Given the description of an element on the screen output the (x, y) to click on. 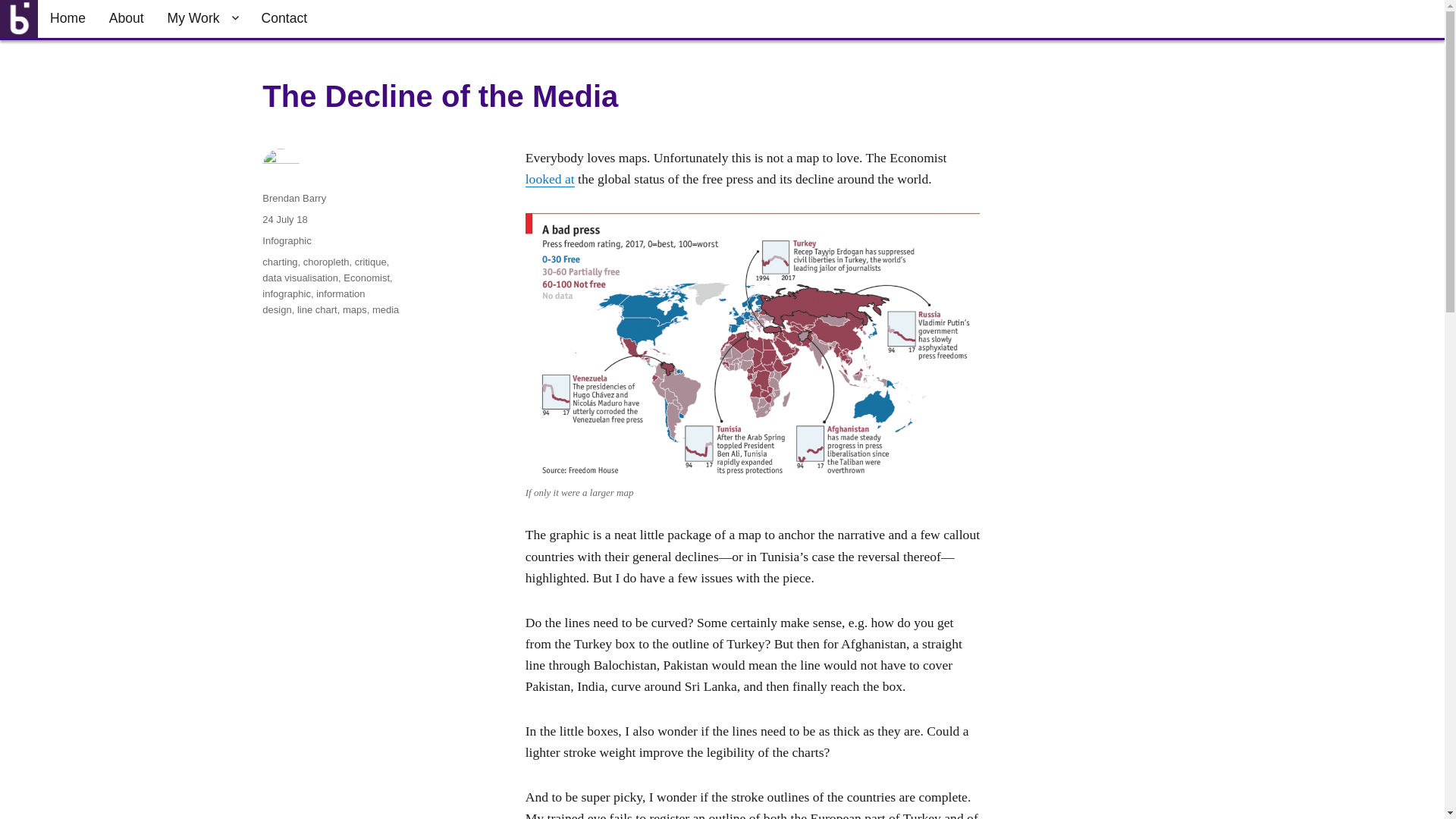
My Work (201, 18)
information design (313, 301)
maps (354, 309)
Home (68, 18)
line chart (317, 309)
Brendan Barry (294, 197)
infographic (286, 293)
looked at (550, 178)
media (385, 309)
charting (279, 261)
